Given the description of an element on the screen output the (x, y) to click on. 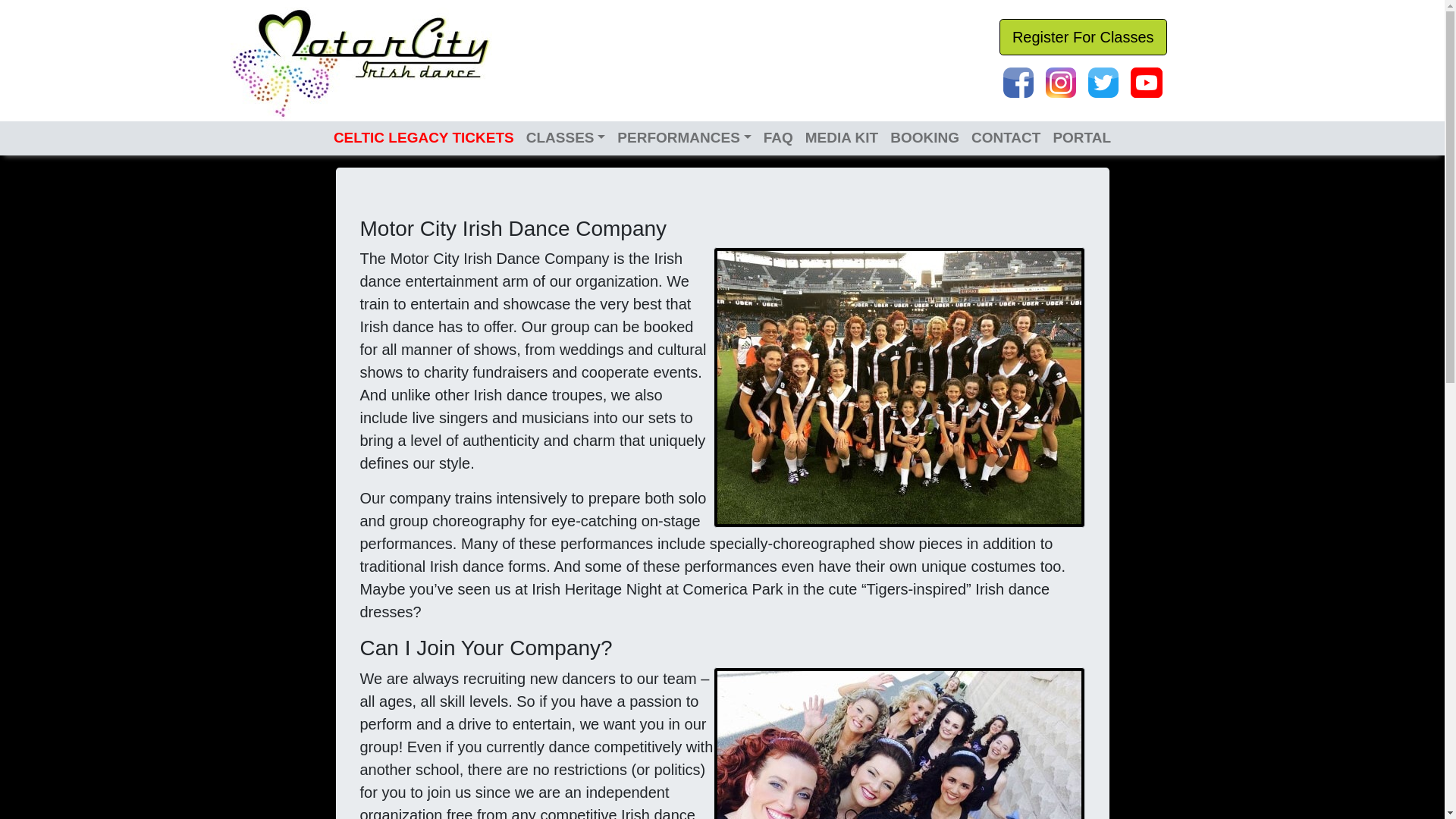
MEDIA KIT (841, 138)
Register For Classes (1082, 36)
BOOKING (924, 138)
CONTACT (1005, 138)
FAQ (778, 138)
CLASSES (565, 138)
PERFORMANCES (684, 138)
CELTIC LEGACY TICKETS (423, 138)
PORTAL (1081, 138)
